Given the description of an element on the screen output the (x, y) to click on. 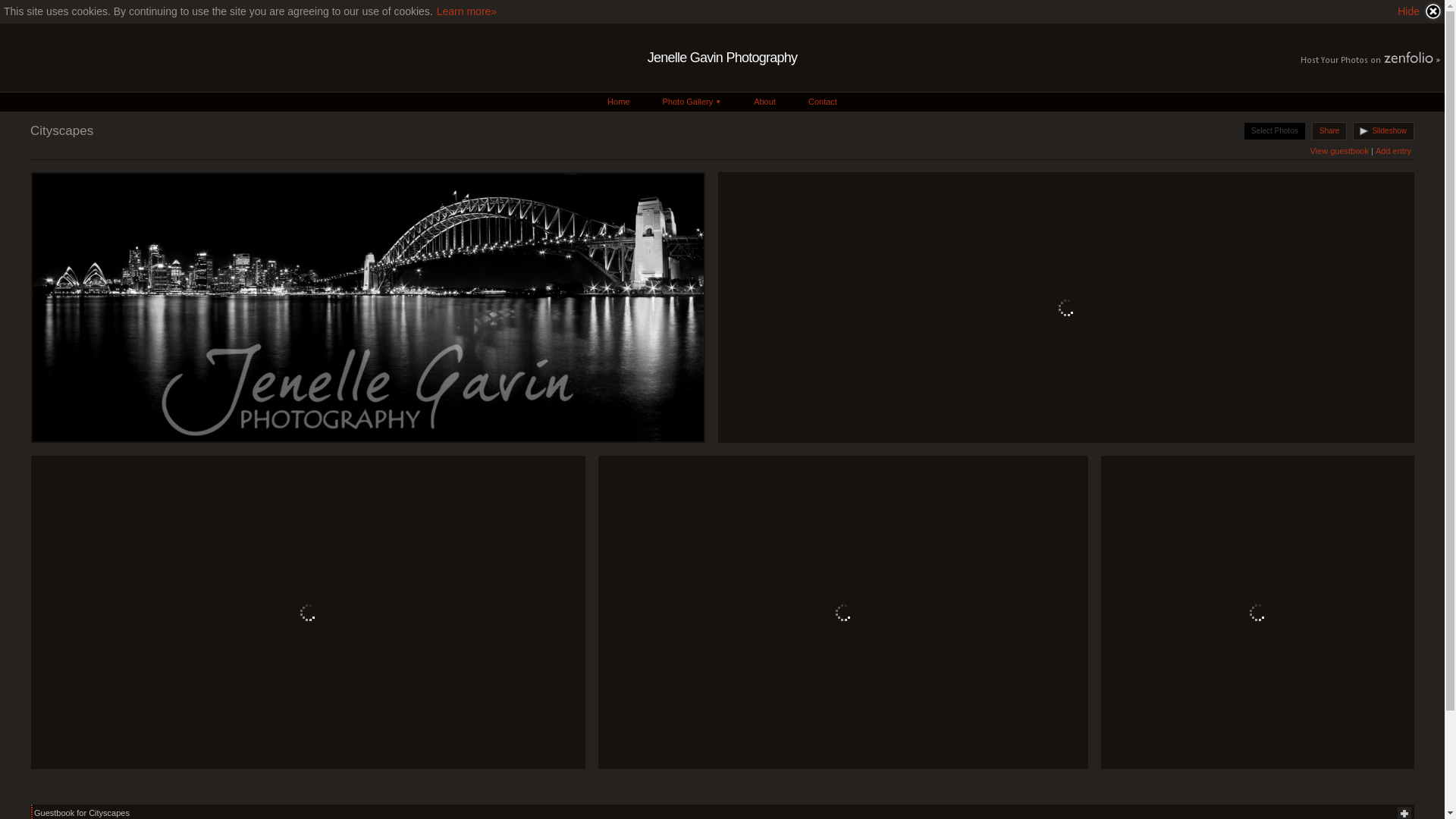
Guestbook for Cityscapes Element type: text (81, 812)
Contact Element type: text (822, 101)
Jenelle Gavin Photography Element type: text (722, 57)
Add entry Element type: text (1393, 150)
About Element type: text (764, 101)
Hide Element type: text (1419, 11)
Host Your Photos on Zenfolio Element type: hover (1368, 59)
Home Element type: text (618, 101)
View guestbook Element type: text (1338, 150)
